Given the description of an element on the screen output the (x, y) to click on. 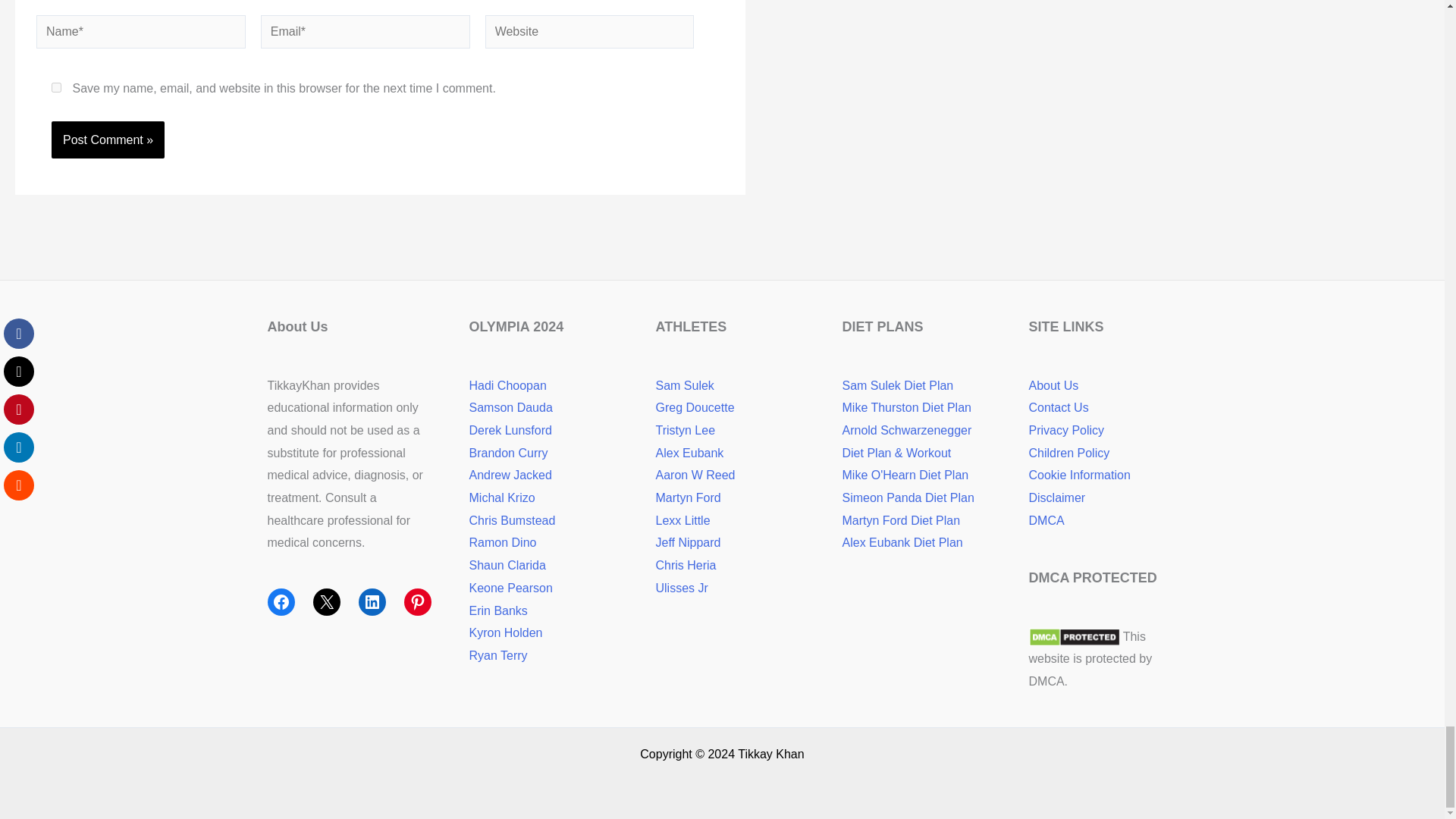
yes (55, 87)
DMCA.com Protection Status (1073, 635)
